Given the description of an element on the screen output the (x, y) to click on. 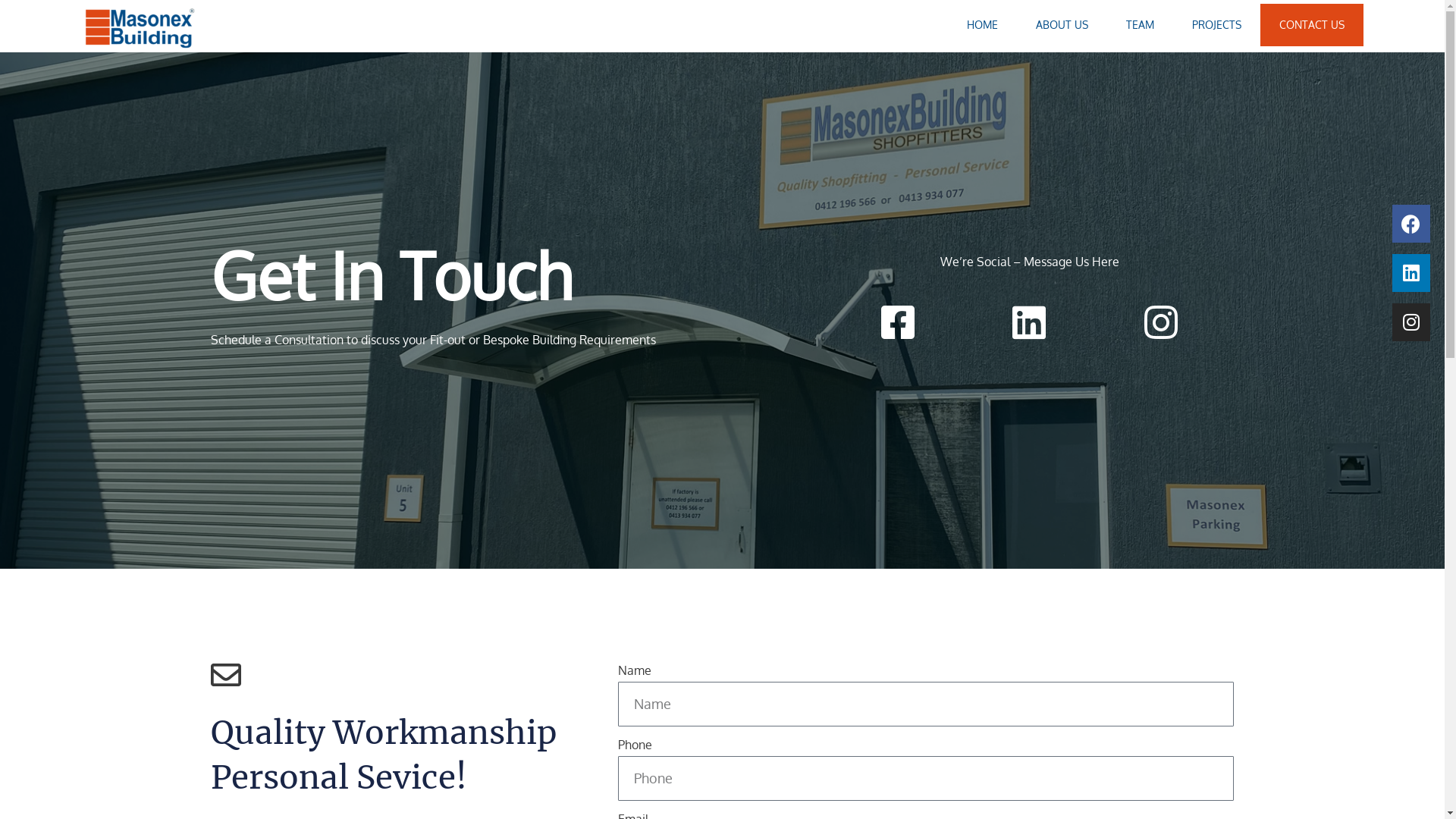
ABOUT US Element type: text (1061, 24)
PROJECTS Element type: text (1215, 24)
HOME Element type: text (981, 24)
CONTACT US Element type: text (1311, 24)
TEAM Element type: text (1140, 24)
